Given the description of an element on the screen output the (x, y) to click on. 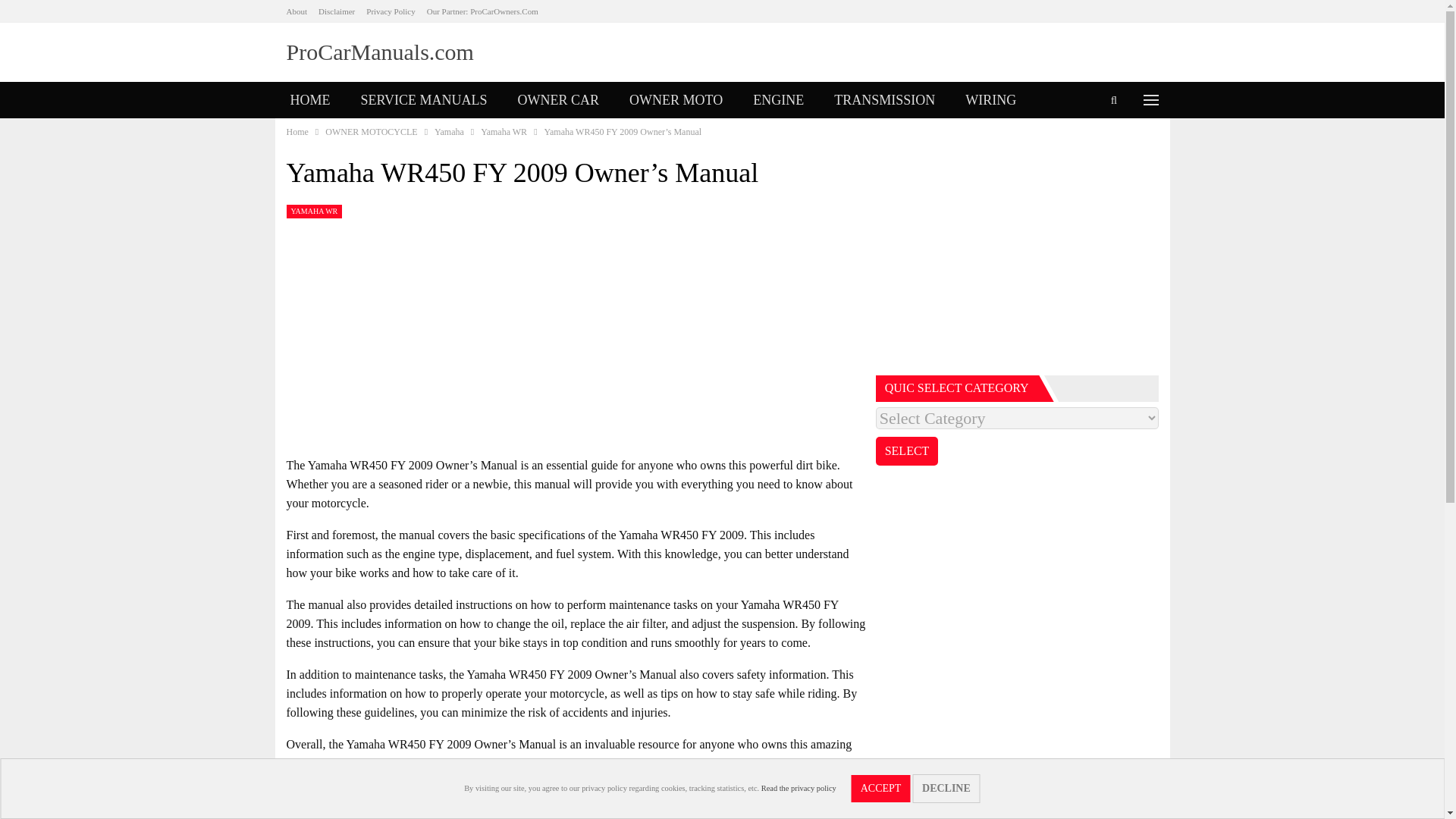
SELECT (907, 451)
Read the privacy policy (798, 787)
OWNER MOTOCYCLE (370, 131)
VAG SSP (385, 135)
ACCEPT (881, 788)
ENGINE (778, 99)
WIRING (990, 99)
YAMAHA WR (314, 211)
Disclaimer (336, 10)
TRANSMISSION (884, 99)
